Given the description of an element on the screen output the (x, y) to click on. 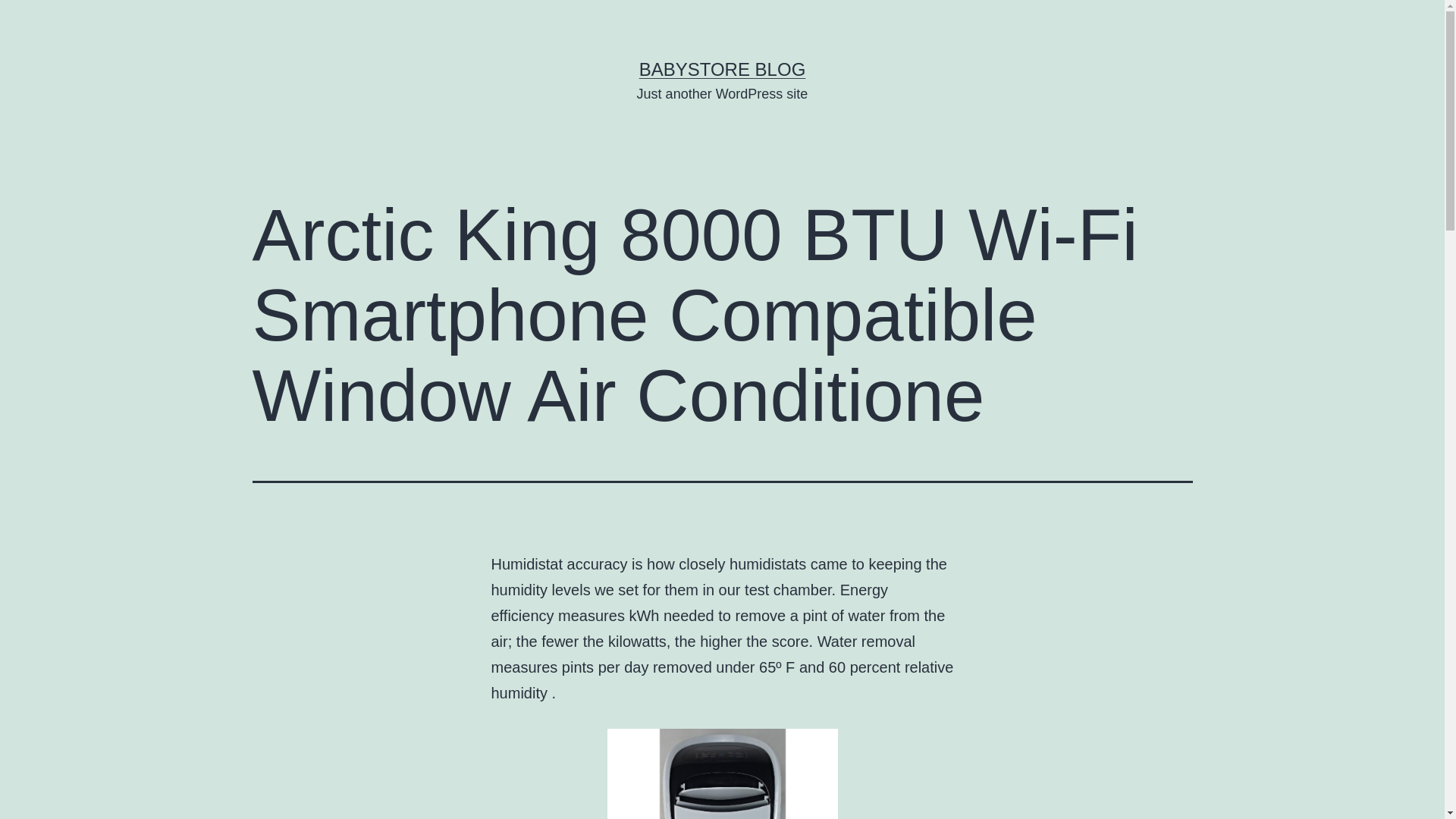
BABYSTORE BLOG (722, 68)
